Given the description of an element on the screen output the (x, y) to click on. 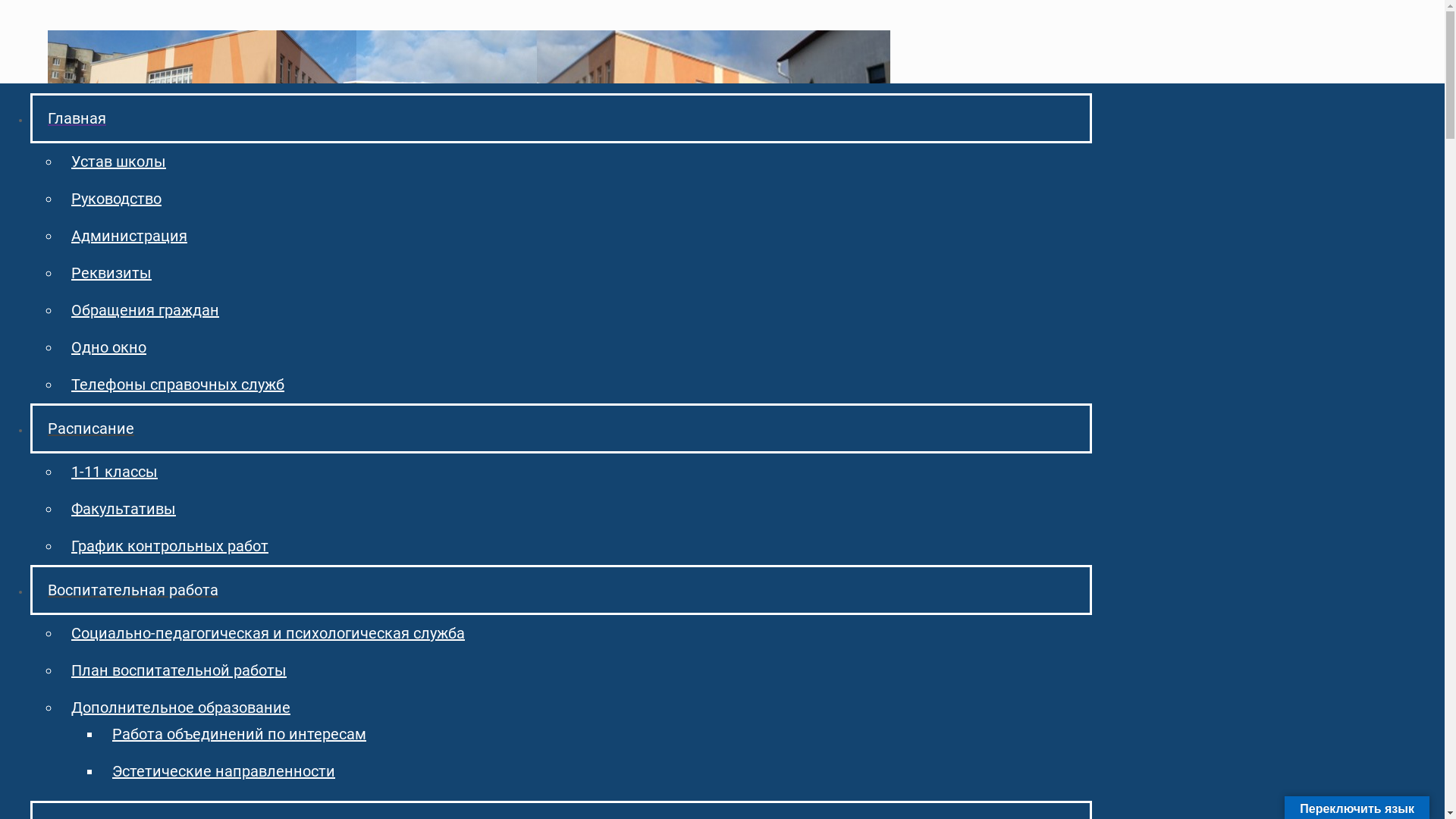
2023gmis1-768x432-1024x576 Element type: hover (78, 180)
